Given the description of an element on the screen output the (x, y) to click on. 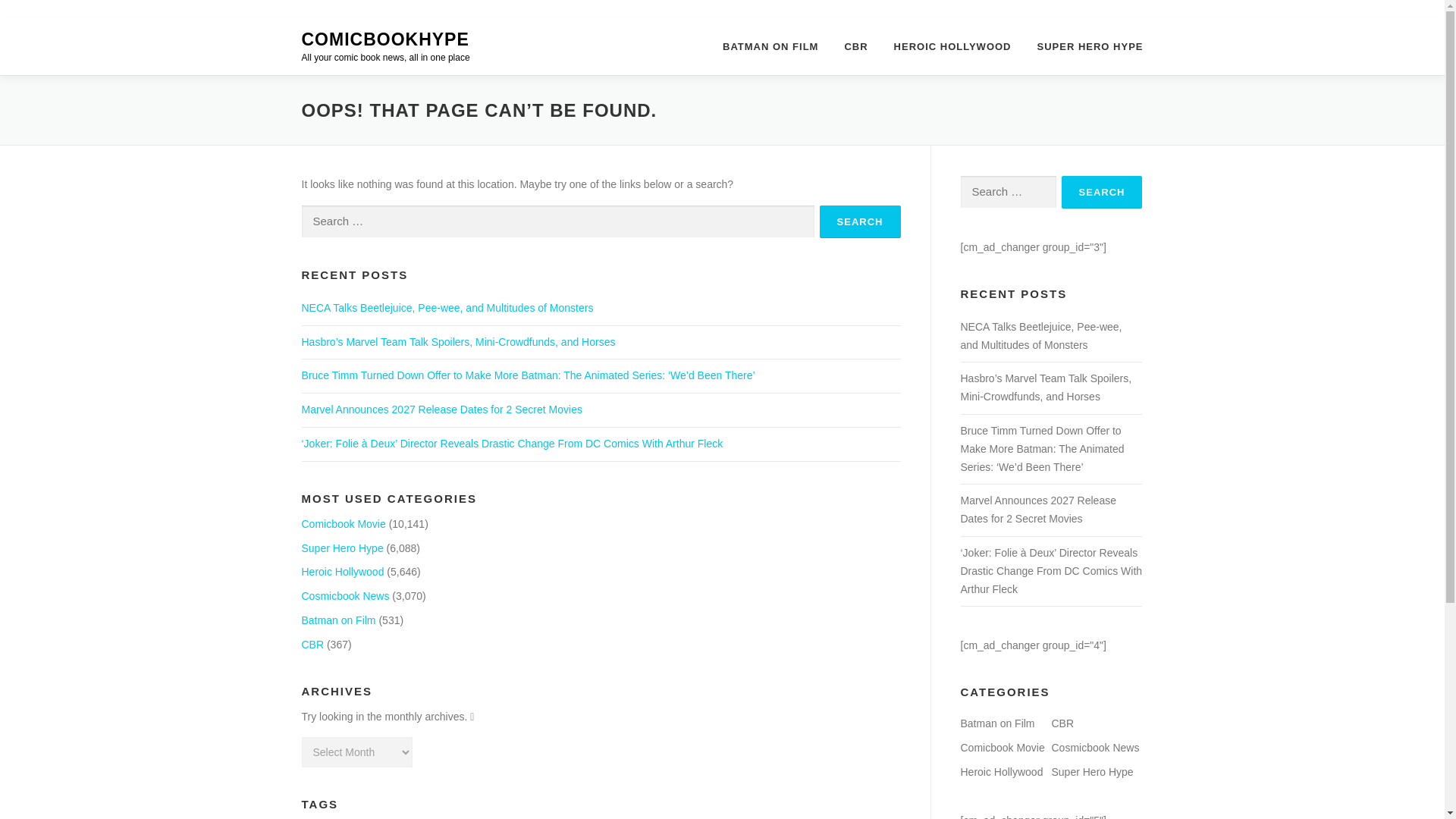
COMICBOOKHYPE (384, 39)
Marvel Announces 2027 Release Dates for 2 Secret Movies (441, 409)
SUPER HERO HYPE (1083, 46)
Search (860, 221)
Skip to content (34, 27)
Super Hero Hype (342, 548)
Comicbook Movie (343, 523)
Search (860, 221)
Batman on Film (338, 620)
Heroic Hollywood (342, 571)
Search (1101, 192)
Search (1101, 192)
BATMAN ON FILM (770, 46)
Search (860, 221)
Cosmicbook News (345, 595)
